Given the description of an element on the screen output the (x, y) to click on. 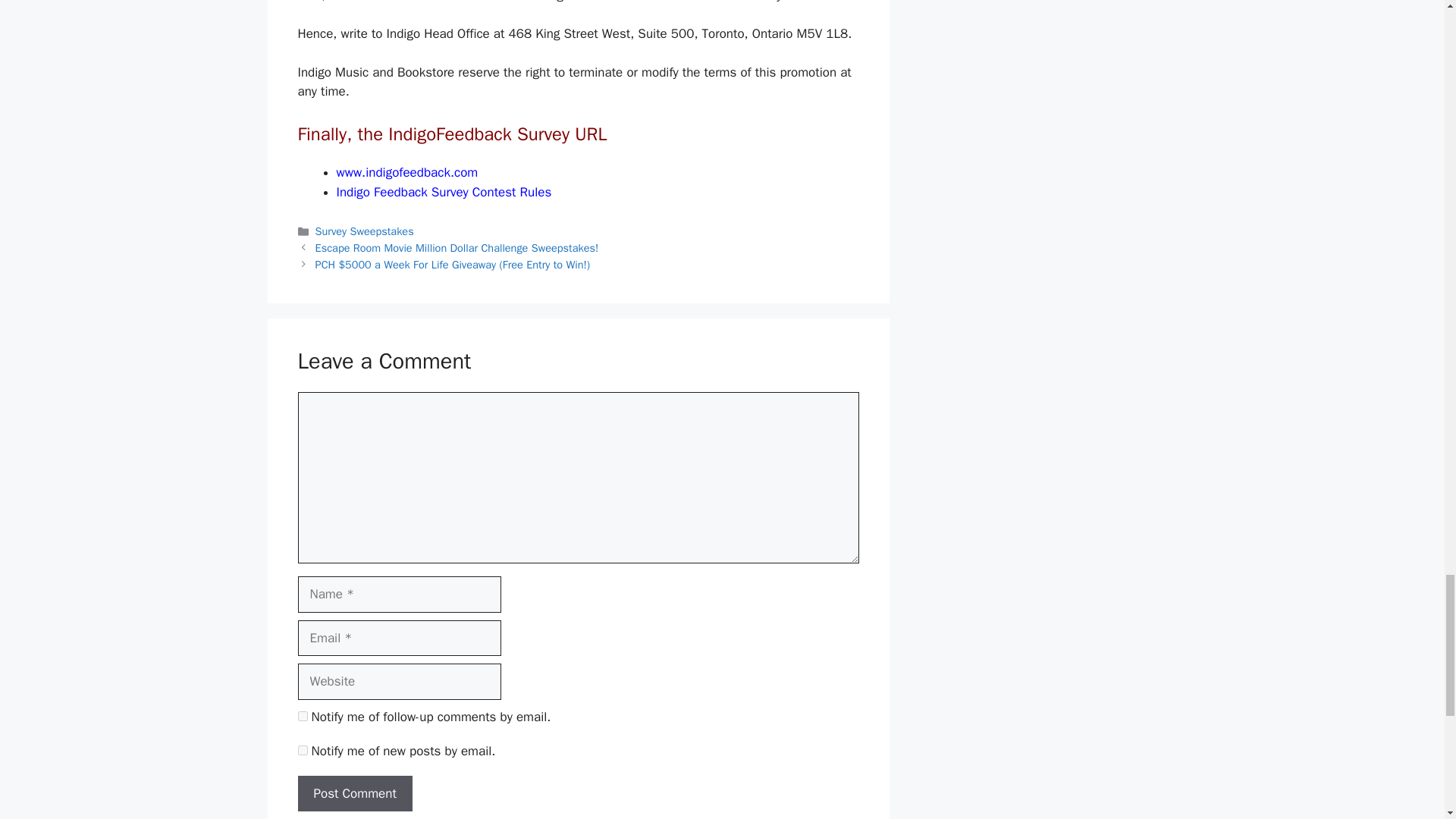
Indigo Feedback Survey Contest Rules (443, 191)
subscribe (302, 750)
Survey Sweepstakes (364, 231)
subscribe (302, 716)
Post Comment (354, 793)
www.indigofeedback.com (407, 172)
Escape Room Movie Million Dollar Challenge Sweepstakes! (456, 247)
Post Comment (354, 793)
